Given the description of an element on the screen output the (x, y) to click on. 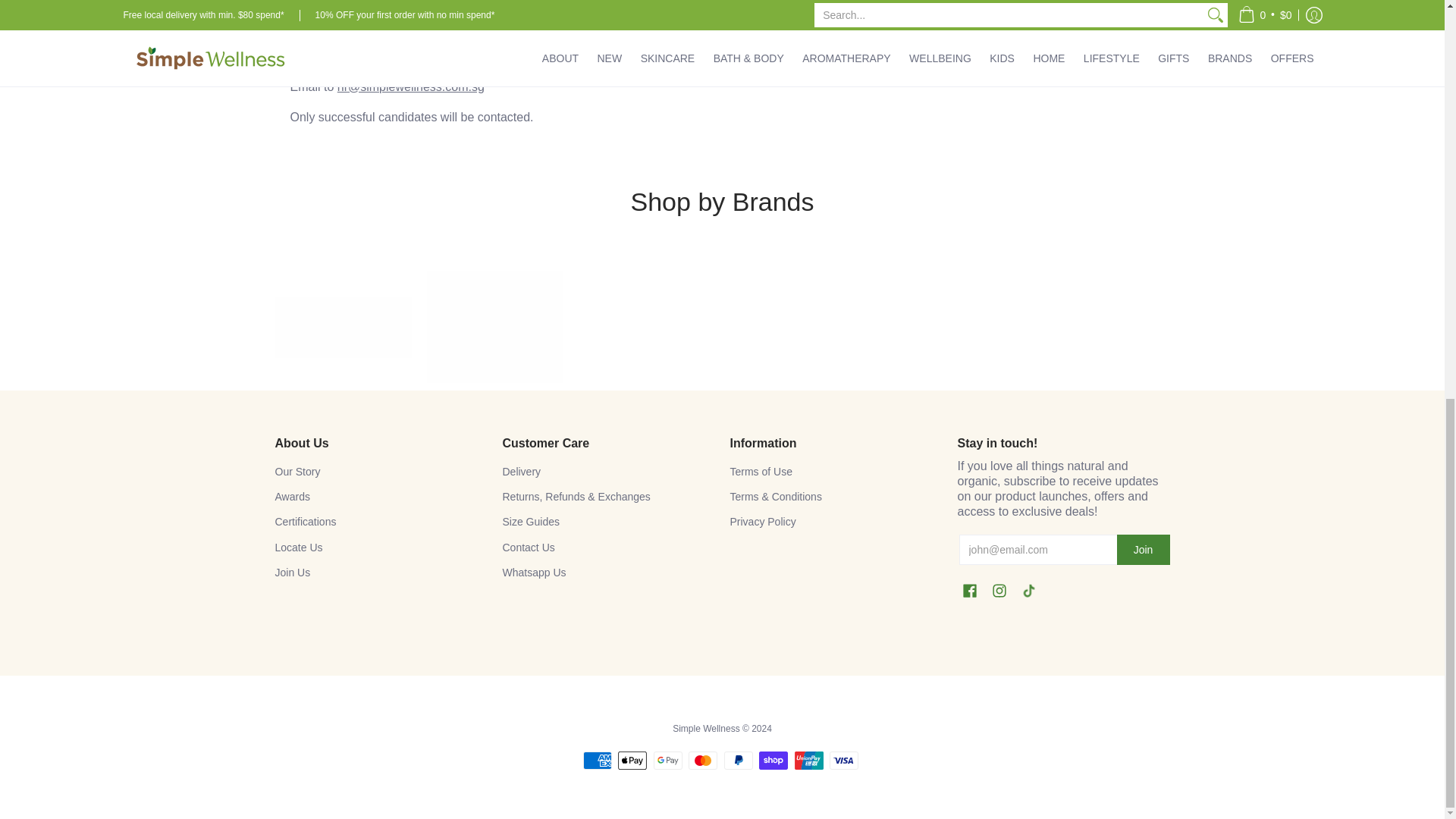
American Express (597, 760)
Visa (844, 760)
Shop Pay (772, 760)
Mastercard (702, 760)
Apple Pay (631, 760)
PayPal (737, 760)
Google Pay (667, 760)
Union Pay (809, 760)
